Given the description of an element on the screen output the (x, y) to click on. 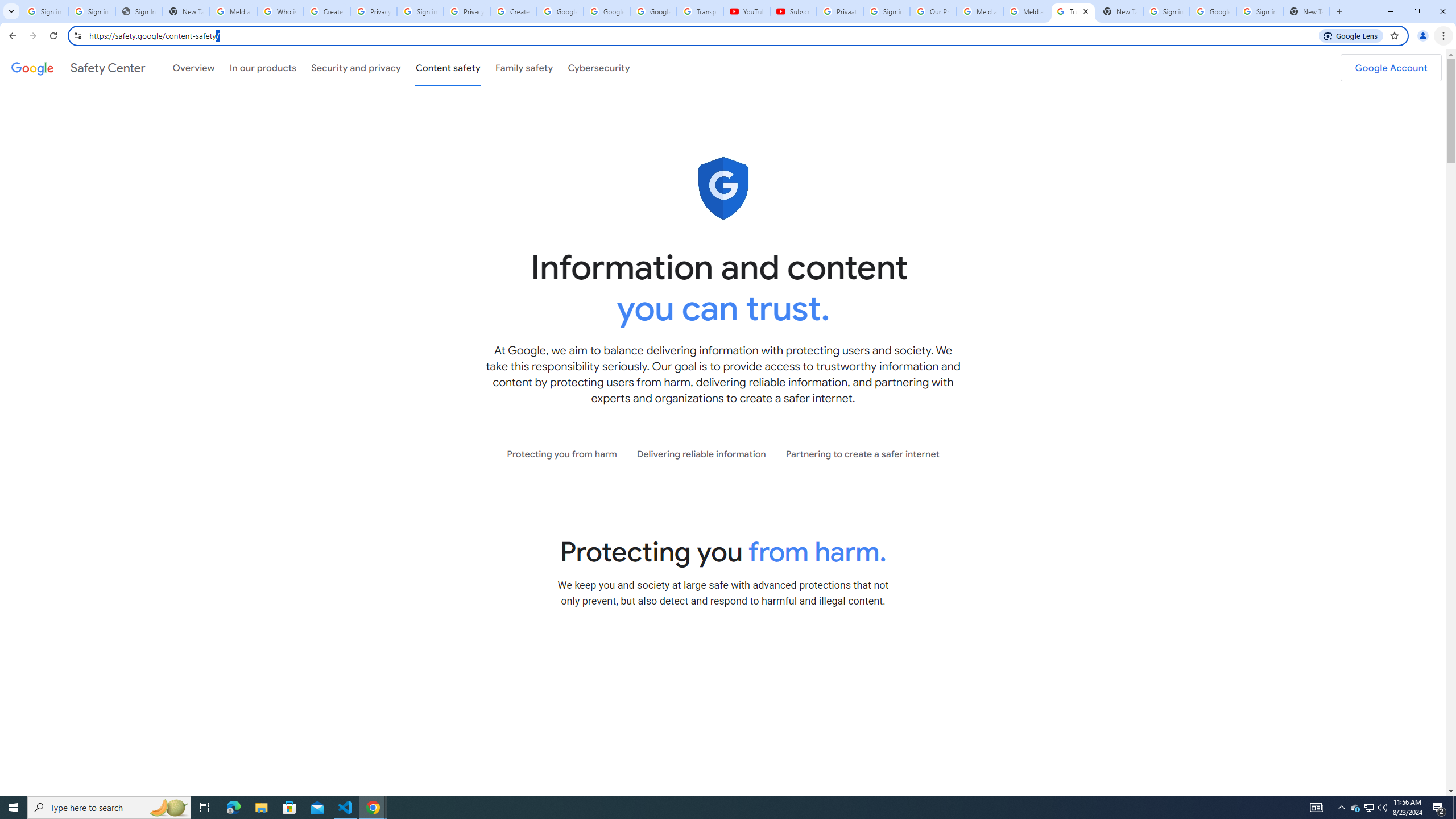
New Tab (1306, 11)
Security and privacy (356, 67)
Sign in - Google Accounts (1259, 11)
Content safety (447, 67)
Prevent (723, 698)
Partnering to create a safer internet (862, 454)
Delivering reliable information (700, 454)
Sign in - Google Accounts (419, 11)
Sign in - Google Accounts (886, 11)
